Given the description of an element on the screen output the (x, y) to click on. 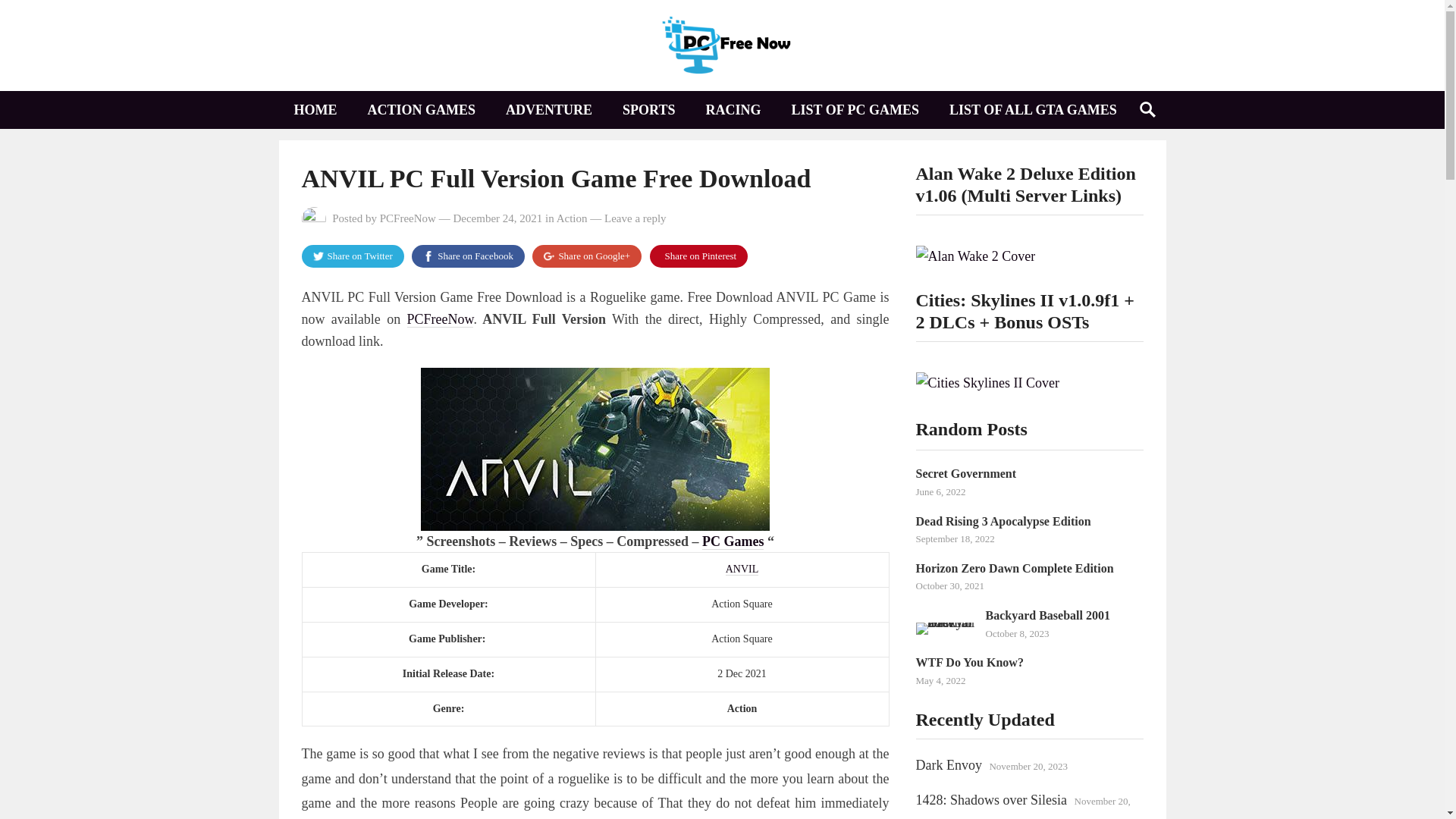
PCFreeNow (440, 319)
PC Games (731, 541)
View all posts in Action (572, 218)
Action (572, 218)
Posts by PCFreeNow (407, 218)
HOME (315, 109)
LIST OF ALL GTA GAMES (1033, 109)
ACTION GAMES (421, 109)
LIST OF PC GAMES (855, 109)
Share on Pinterest (698, 255)
RACING (733, 109)
Leave a reply (635, 218)
SPORTS (648, 109)
ANVIL (741, 569)
Share on Facebook (468, 255)
